Given the description of an element on the screen output the (x, y) to click on. 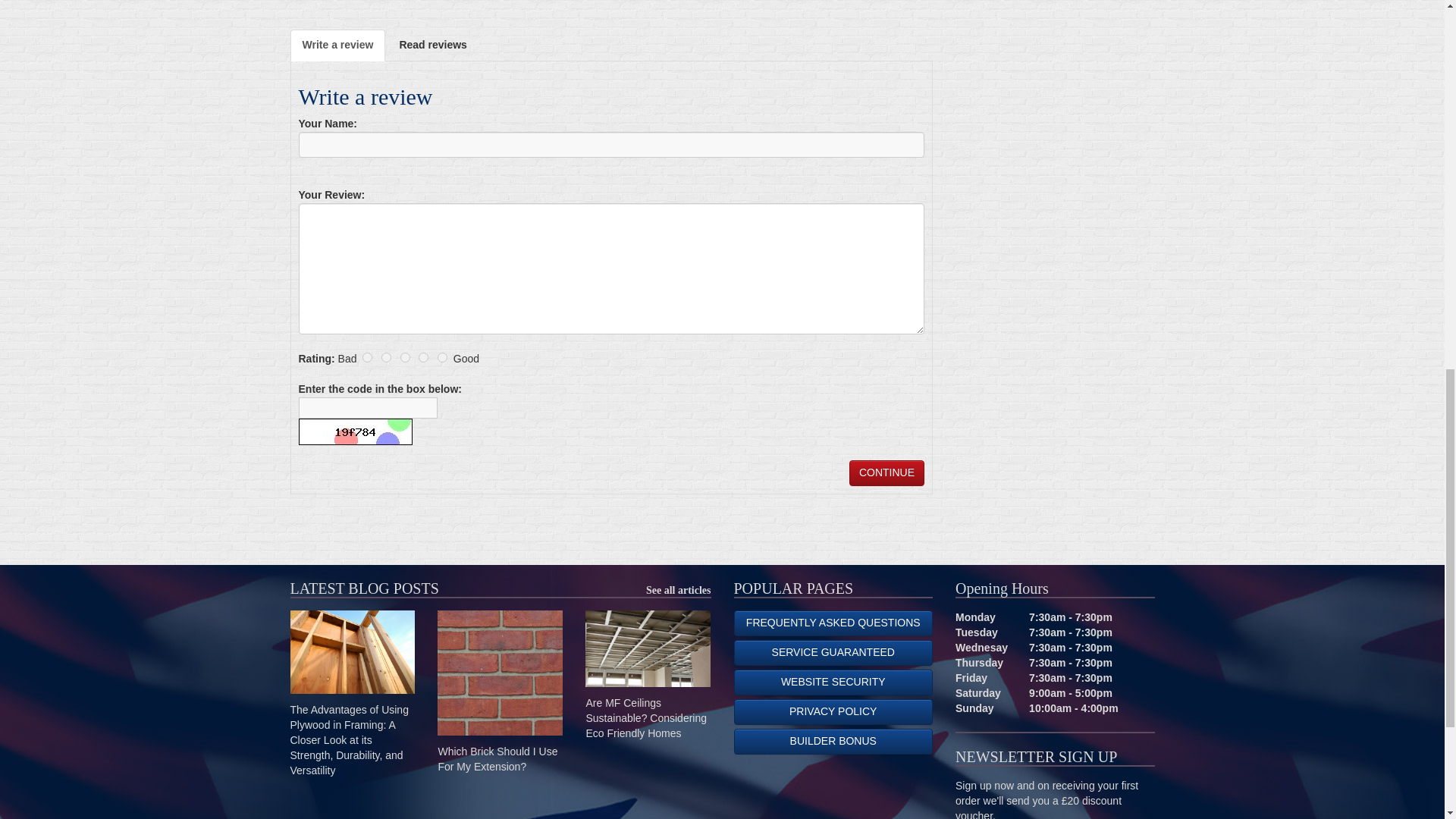
4 (423, 357)
3 (405, 357)
2 (386, 357)
1 (367, 357)
5 (442, 357)
